Given the description of an element on the screen output the (x, y) to click on. 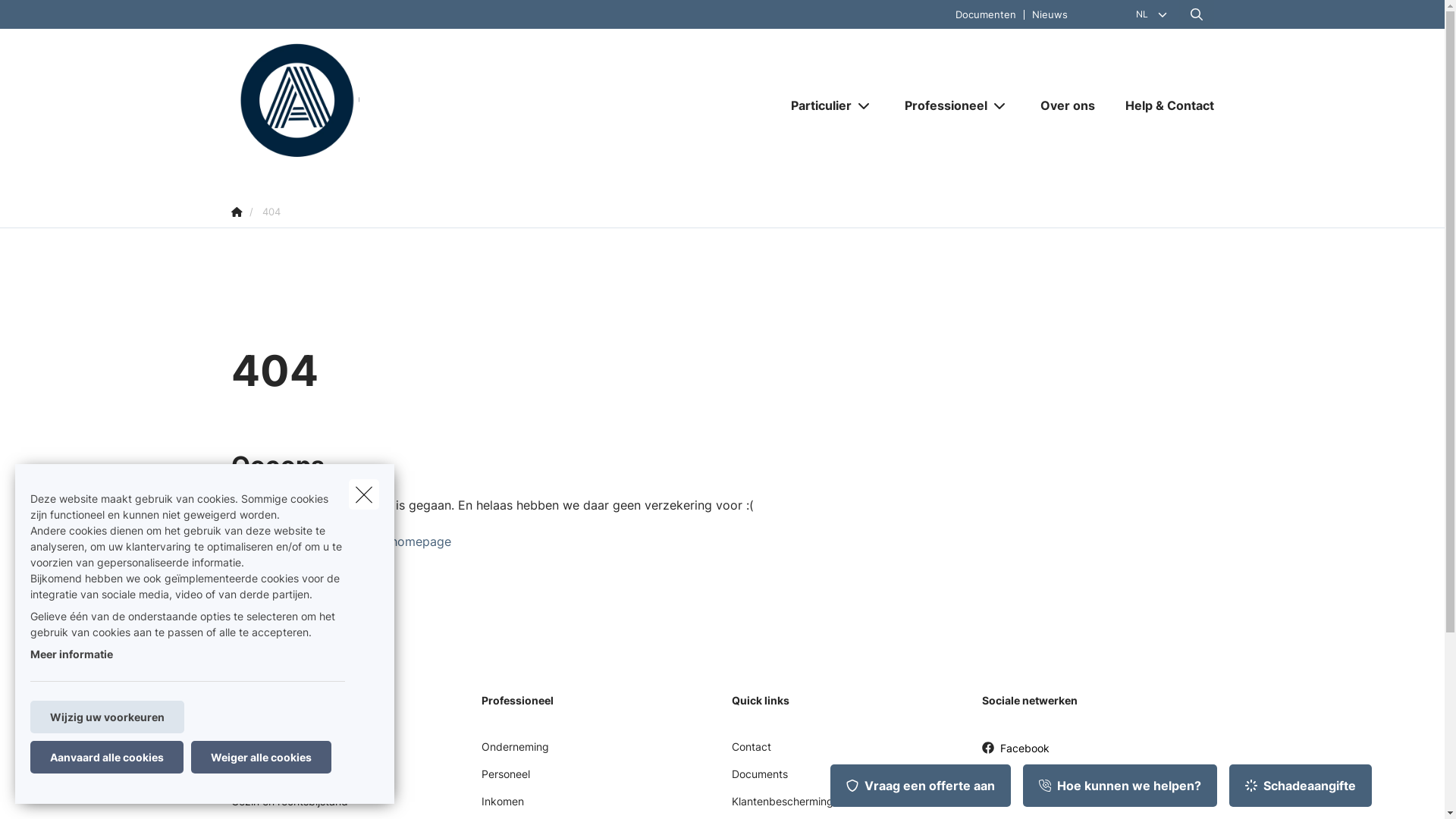
Contact Element type: text (750, 751)
Nieuws Element type: text (1049, 13)
Over ons Element type: text (1067, 104)
Wijzig uw voorkeuren Element type: text (107, 716)
Vraag een offerte aan Element type: text (920, 785)
Professioneel Element type: text (939, 104)
Facebook Element type: text (1014, 753)
Documenten Element type: text (985, 13)
Hoe kunnen we helpen? Element type: text (1119, 785)
Woning Element type: text (248, 779)
Zoeken Element type: text (42, 18)
Meer informatie Element type: text (71, 653)
Onderneming Element type: text (514, 751)
homepage Element type: text (419, 541)
Help & Contact Element type: text (1162, 104)
Mobiliteit Element type: text (252, 751)
Weiger alle cookies Element type: text (261, 756)
Documents Element type: text (759, 779)
Aanvaard alle cookies Element type: text (106, 756)
Personeel Element type: text (504, 779)
Schadeaangifte Element type: text (1300, 785)
Particulier Element type: text (814, 104)
